Given the description of an element on the screen output the (x, y) to click on. 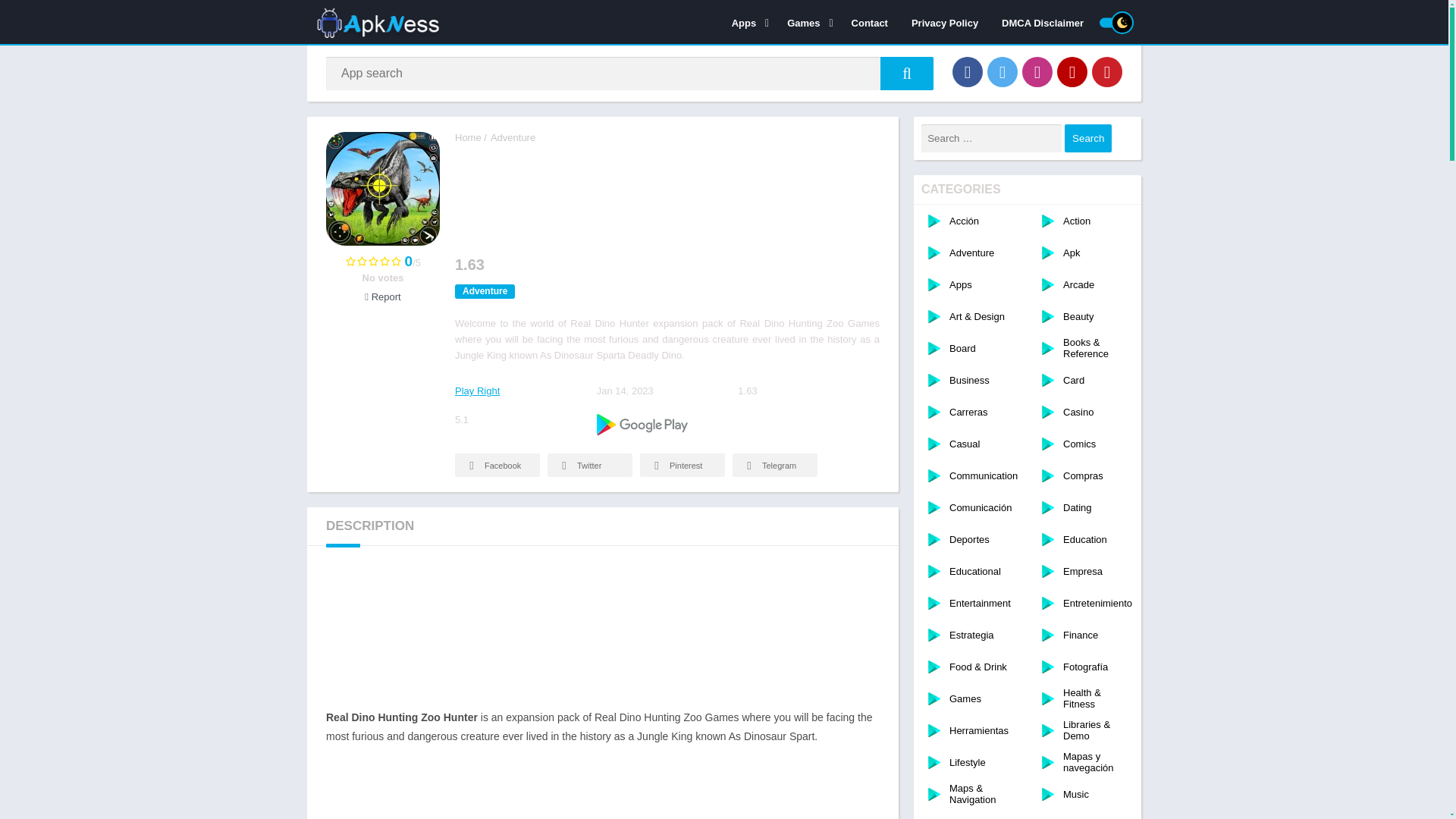
YouTube (1072, 71)
Adventure (512, 137)
Contact (869, 22)
Home (467, 137)
Telegram (774, 464)
Twitter (1002, 71)
Instagram (1037, 71)
Privacy Policy (944, 22)
ApkNess: Download APK Online For Android (467, 137)
Advertisement (602, 632)
Twitter (589, 464)
DMCA Disclaimer (1042, 22)
Games (807, 22)
Advertisement (602, 788)
Search (1088, 138)
